Given the description of an element on the screen output the (x, y) to click on. 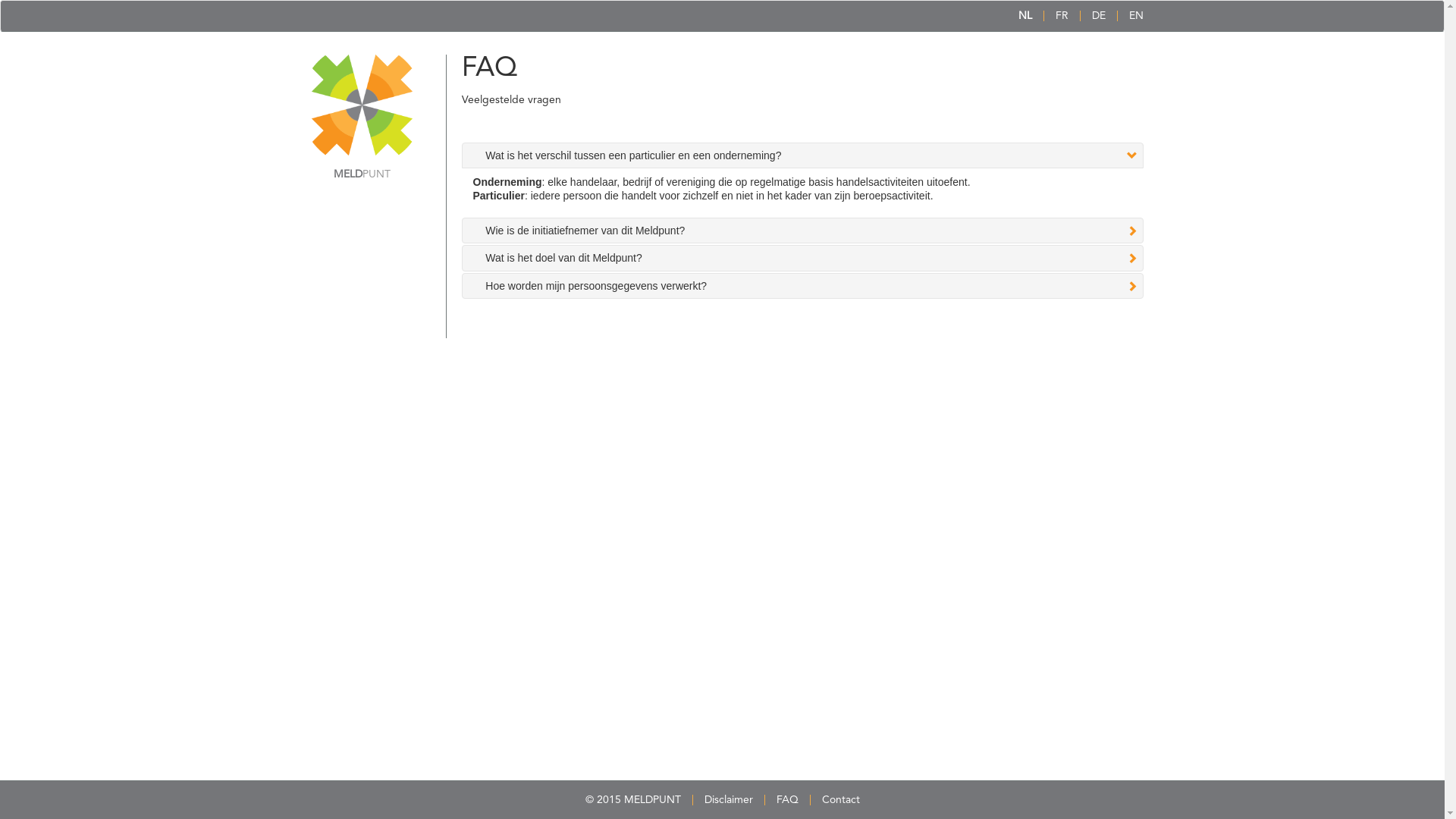
Contact Element type: text (840, 799)
FR Element type: text (1061, 15)
EN Element type: text (1135, 15)
Disclaimer Element type: text (727, 799)
NL Element type: text (1024, 15)
DE Element type: text (1098, 15)
FAQ Element type: text (787, 799)
